Given the description of an element on the screen output the (x, y) to click on. 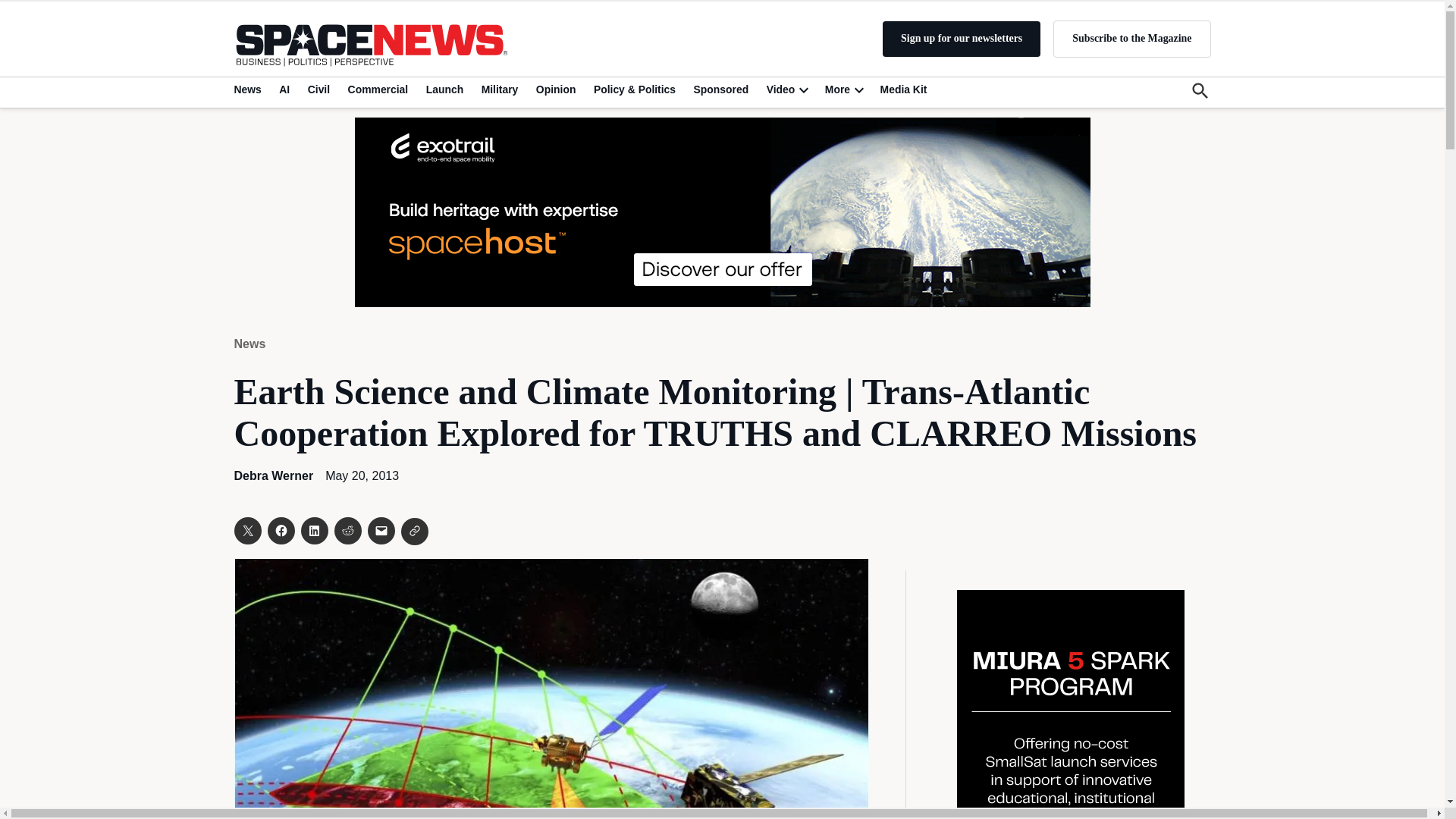
PLD Space (1070, 704)
Click to share on Facebook (280, 530)
Sign up for our newsletters (961, 38)
Click to share on LinkedIn (313, 530)
Click to email a link to a friend (380, 530)
Subscribe to the Magazine (1130, 38)
AI (284, 89)
Click to share on X (246, 530)
Click to share on Clipboard (414, 531)
Civil (318, 89)
News (249, 89)
Click to share on Reddit (347, 530)
